Given the description of an element on the screen output the (x, y) to click on. 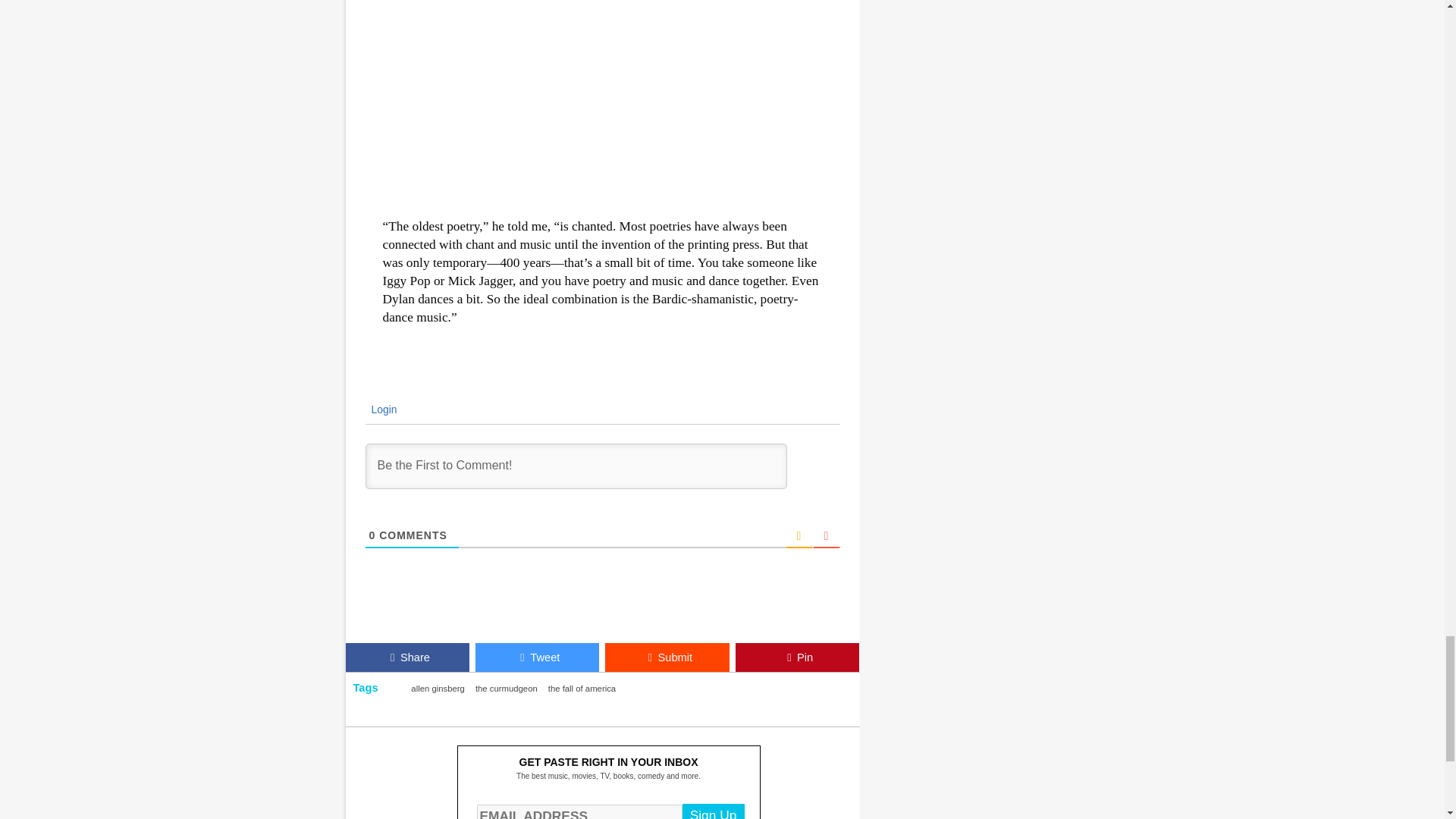
0 (371, 535)
